Given the description of an element on the screen output the (x, y) to click on. 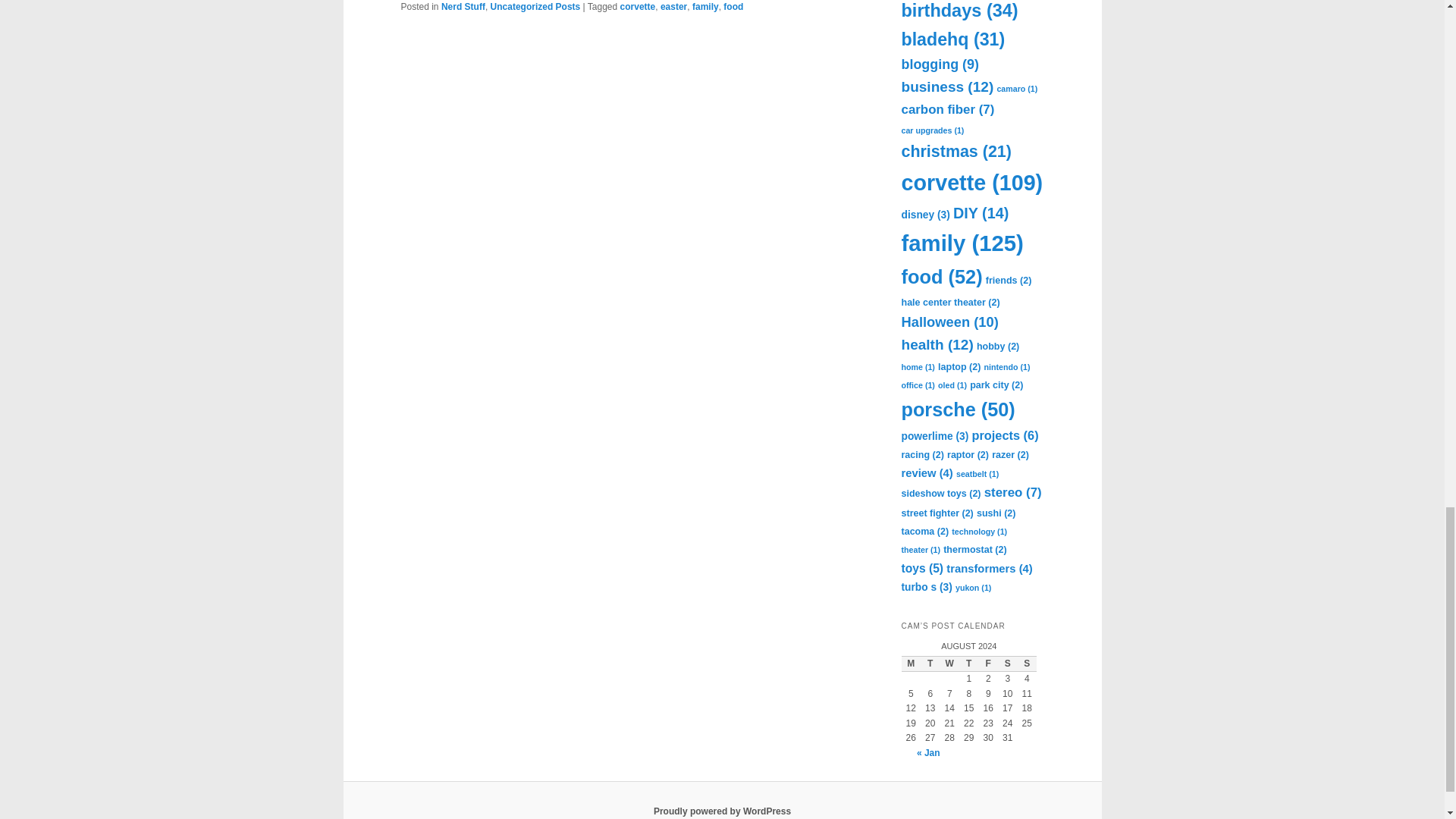
Saturday (1007, 664)
Friday (987, 664)
Thursday (968, 664)
Uncategorized Posts (535, 6)
easter (674, 6)
Tuesday (930, 664)
Monday (910, 664)
Wednesday (949, 664)
food (732, 6)
Nerd Stuff (462, 6)
family (706, 6)
corvette (638, 6)
Sunday (1026, 664)
